Given the description of an element on the screen output the (x, y) to click on. 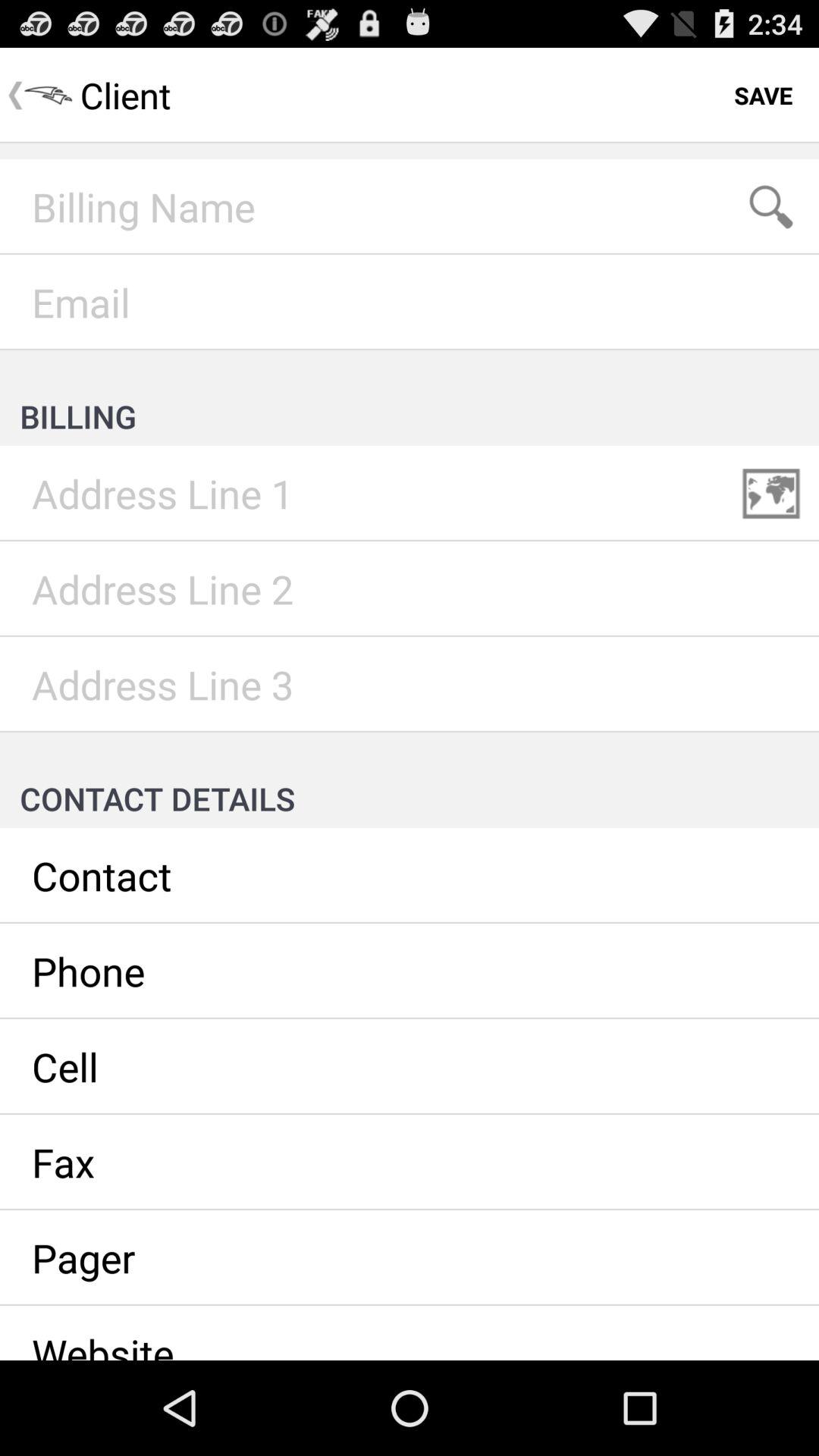
textbox for first address line (409, 493)
